Given the description of an element on the screen output the (x, y) to click on. 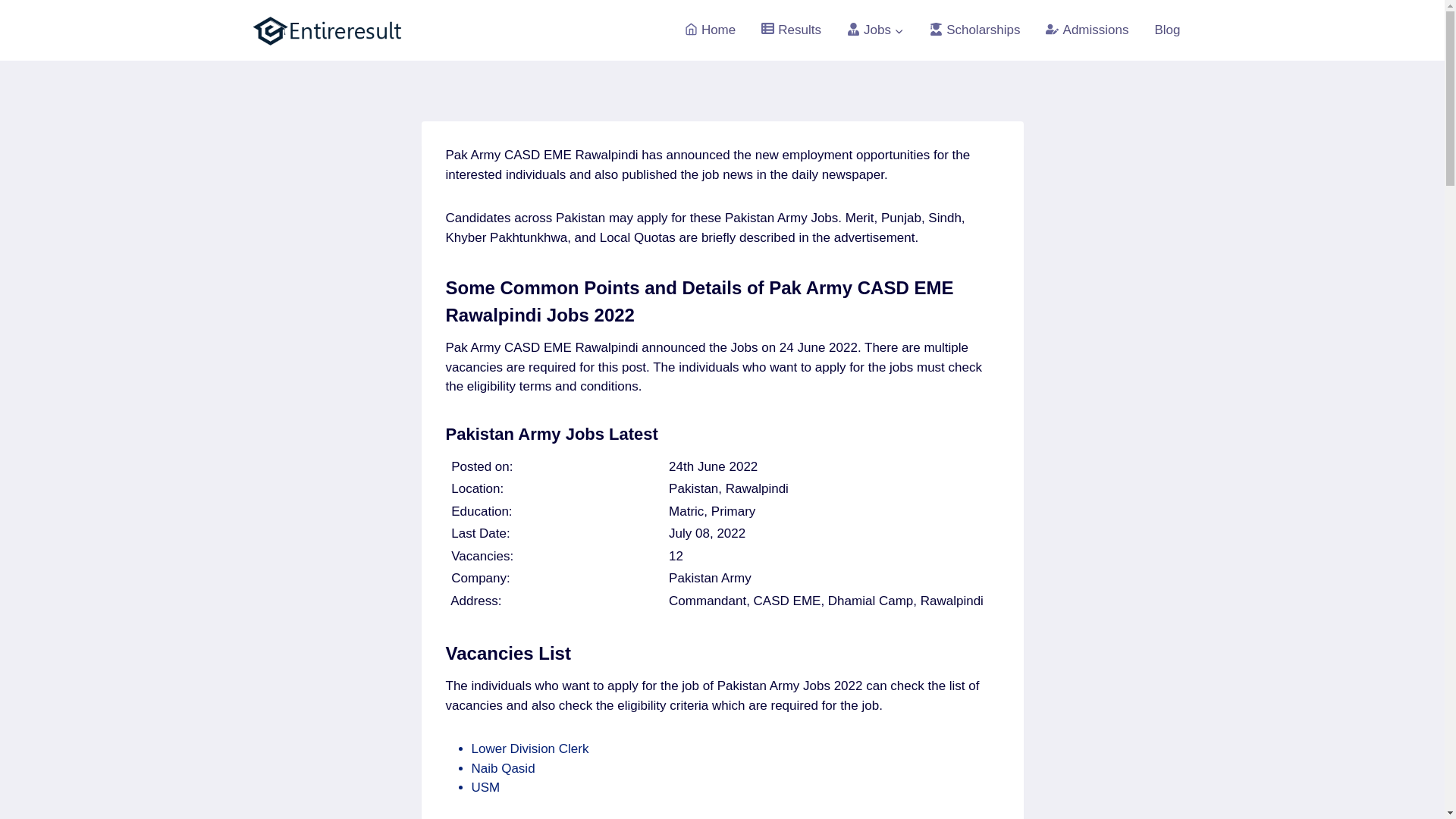
Home (709, 30)
Scholarships (974, 30)
Admissions (1086, 30)
Jobs (875, 30)
Results (791, 30)
Blog (1166, 30)
